Given the description of an element on the screen output the (x, y) to click on. 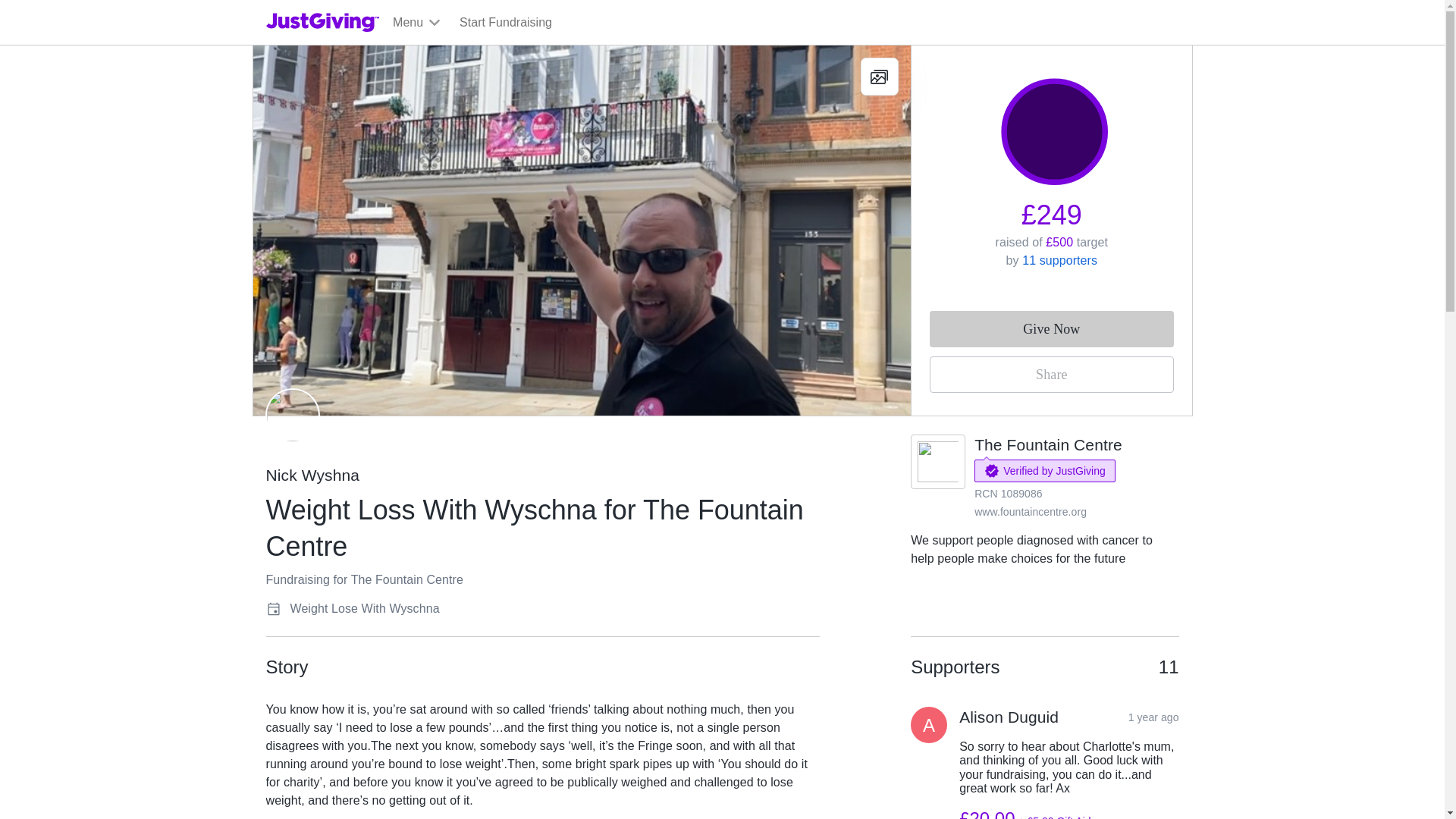
A (929, 724)
Menu (416, 22)
www.fountaincentre.org (1030, 511)
Share (1051, 374)
11 supporters (1059, 259)
Start Fundraising (505, 22)
The Fountain Centre (1048, 444)
Search (919, 57)
